Given the description of an element on the screen output the (x, y) to click on. 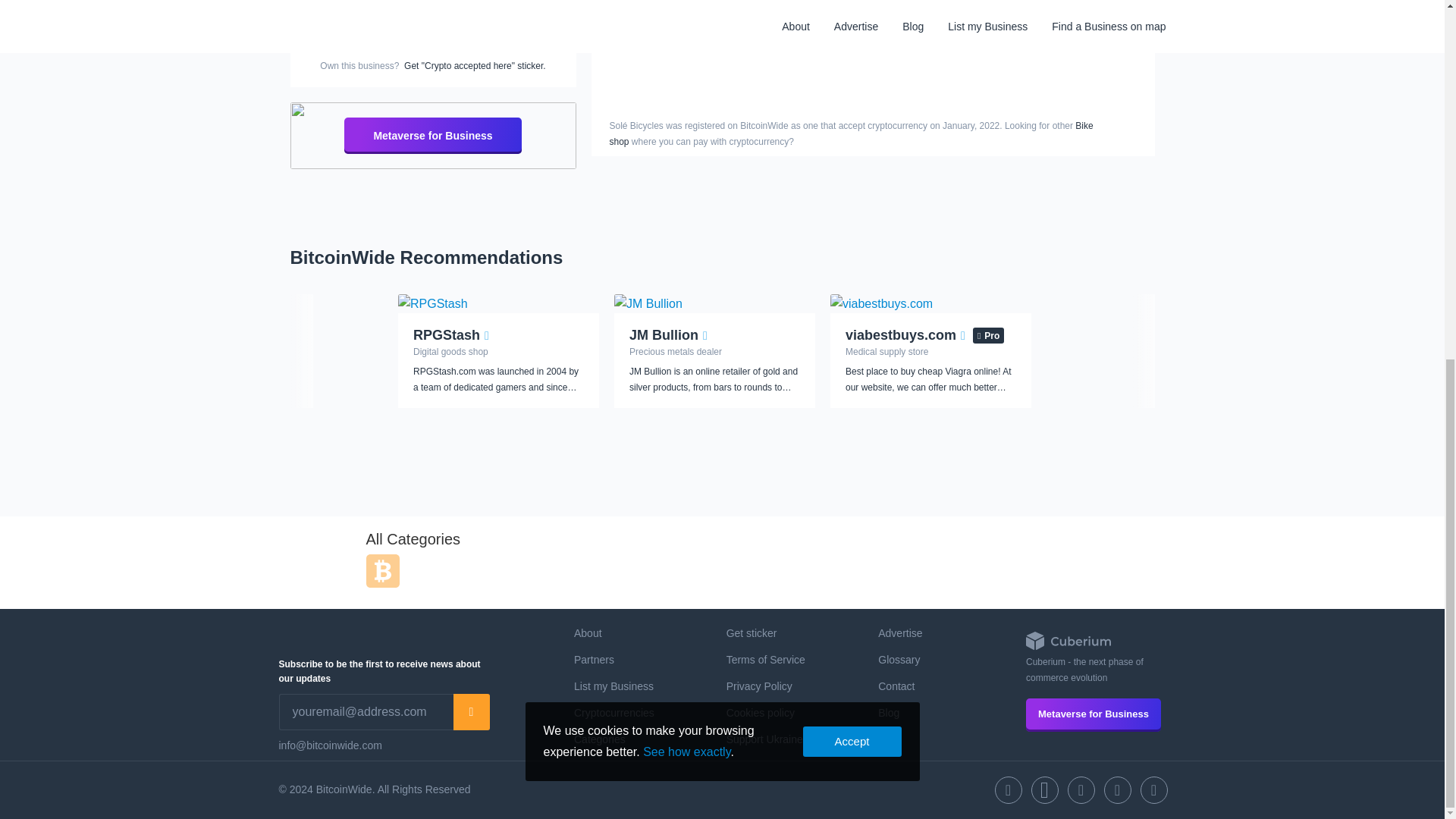
Get direction (344, 1)
Partners (593, 659)
Promote your business (432, 32)
Cookies policy (760, 712)
Terms of Service (765, 659)
Privacy Policy (759, 686)
Get sticker (751, 633)
Bike shop (851, 133)
Categories (599, 739)
Call (433, 1)
About (587, 633)
Get "Crypto accepted here" sticker. (475, 65)
Route (344, 1)
